Given the description of an element on the screen output the (x, y) to click on. 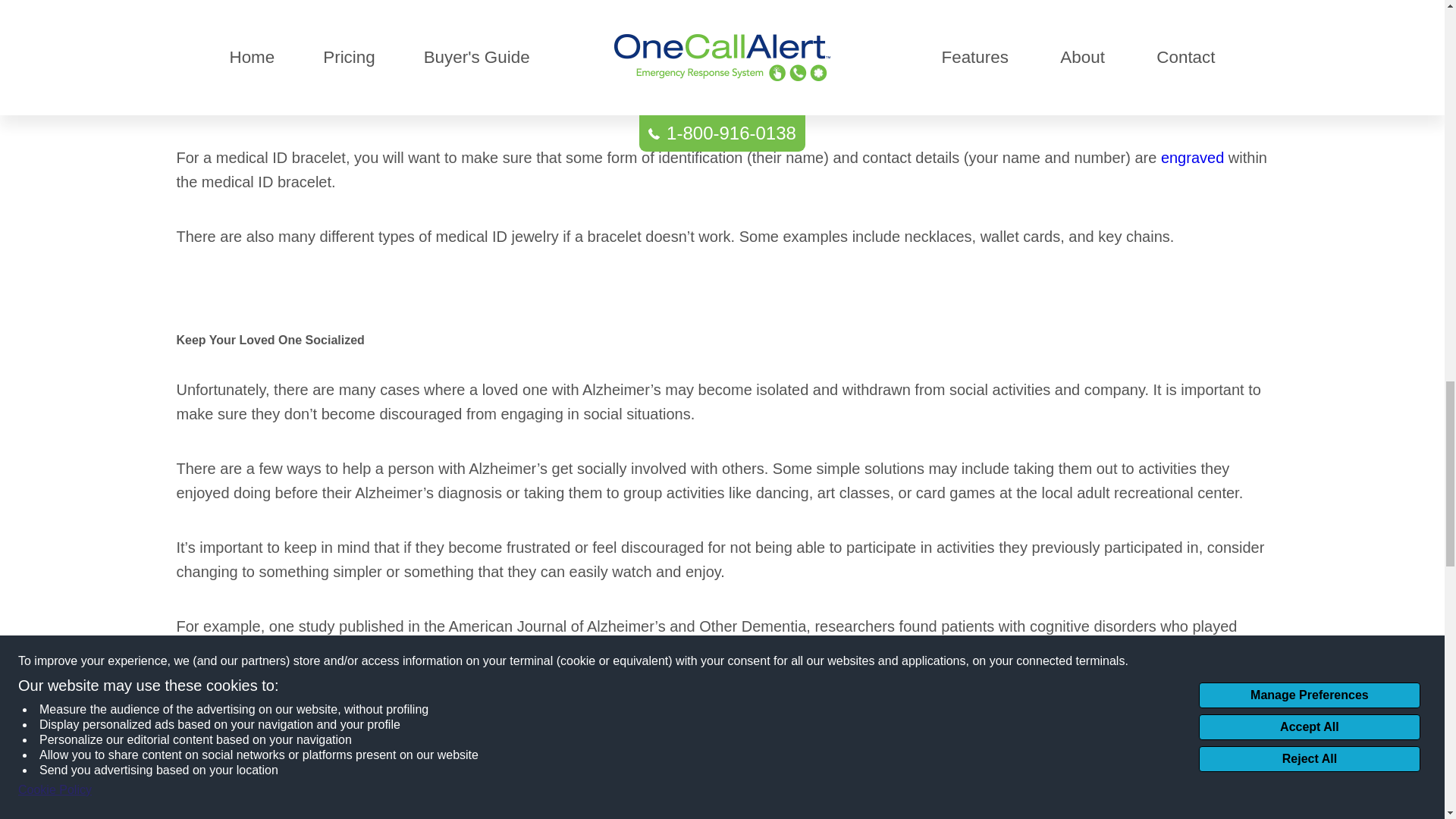
medical ID bracelet (836, 78)
engraved (1192, 157)
